Given the description of an element on the screen output the (x, y) to click on. 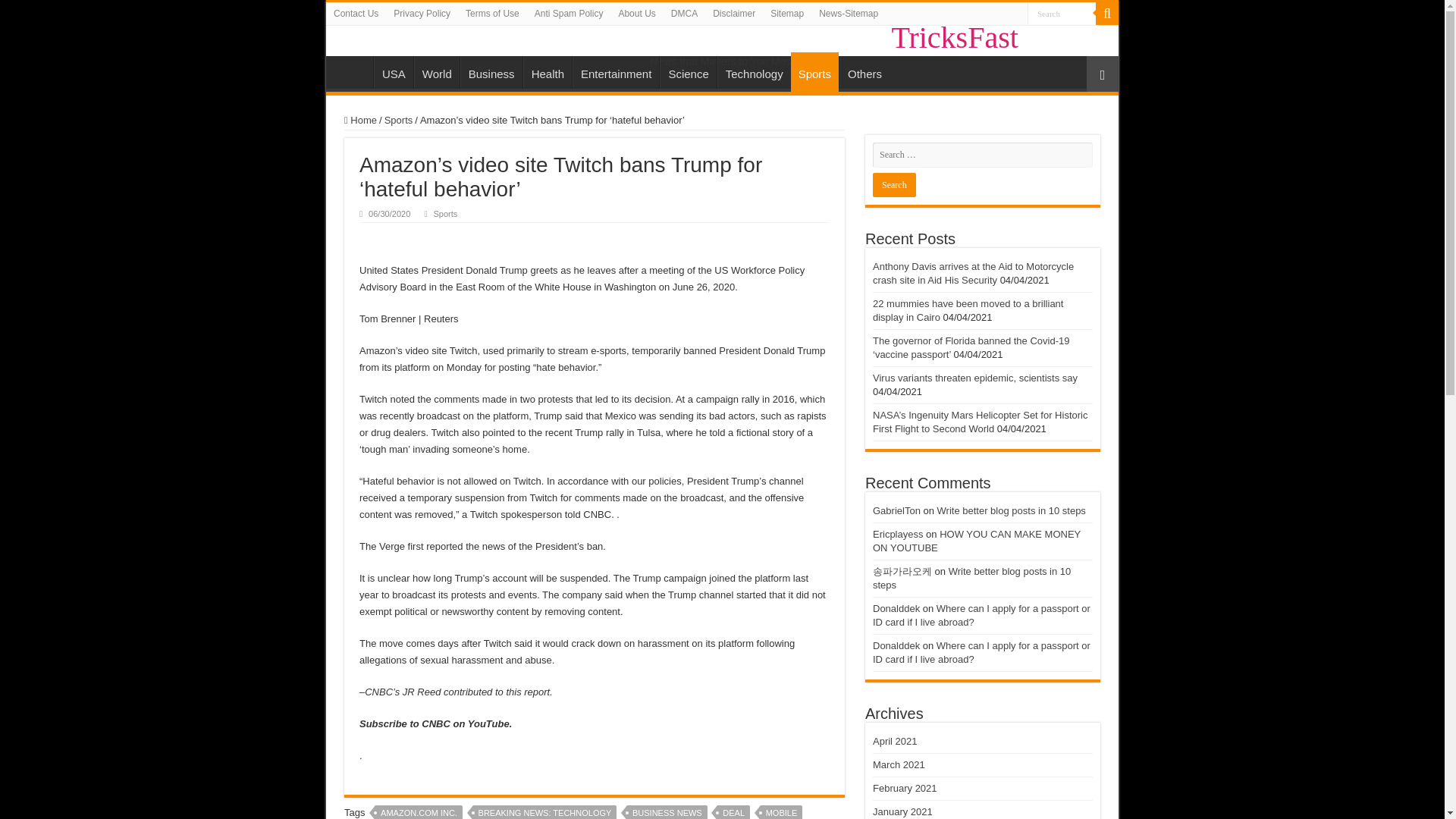
DMCA (683, 13)
MOBILE (781, 812)
AMAZON.COM INC. (419, 812)
Search (1107, 13)
Others (864, 71)
About Us (636, 13)
DEAL (733, 812)
Home (352, 71)
Search (893, 184)
Search (1061, 13)
Science (687, 71)
USA (393, 71)
Search (1061, 13)
BREAKING NEWS: TECHNOLOGY (545, 812)
Terms of Use (492, 13)
